Given the description of an element on the screen output the (x, y) to click on. 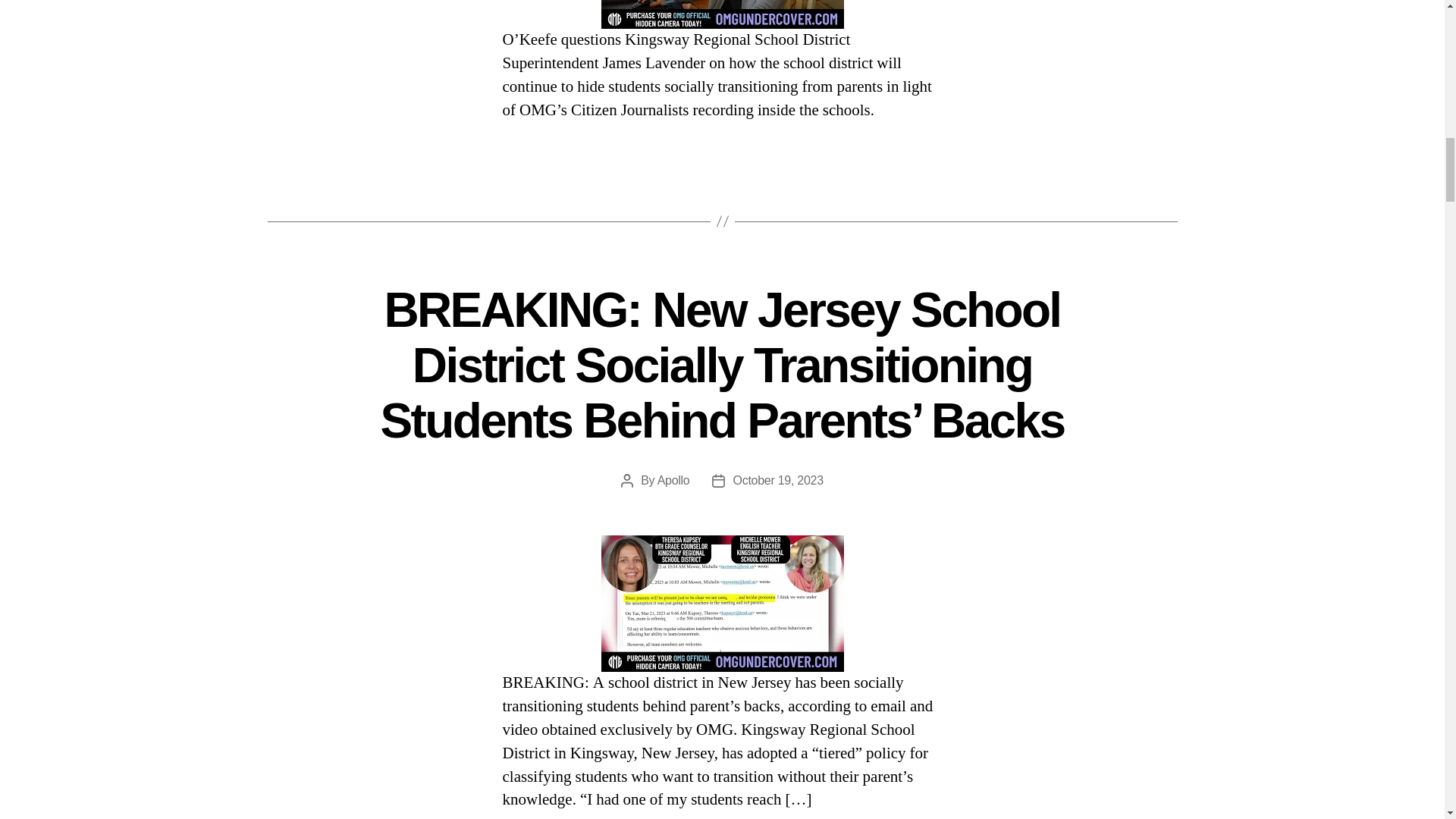
October 19, 2023 (777, 480)
Apollo (674, 480)
